Given the description of an element on the screen output the (x, y) to click on. 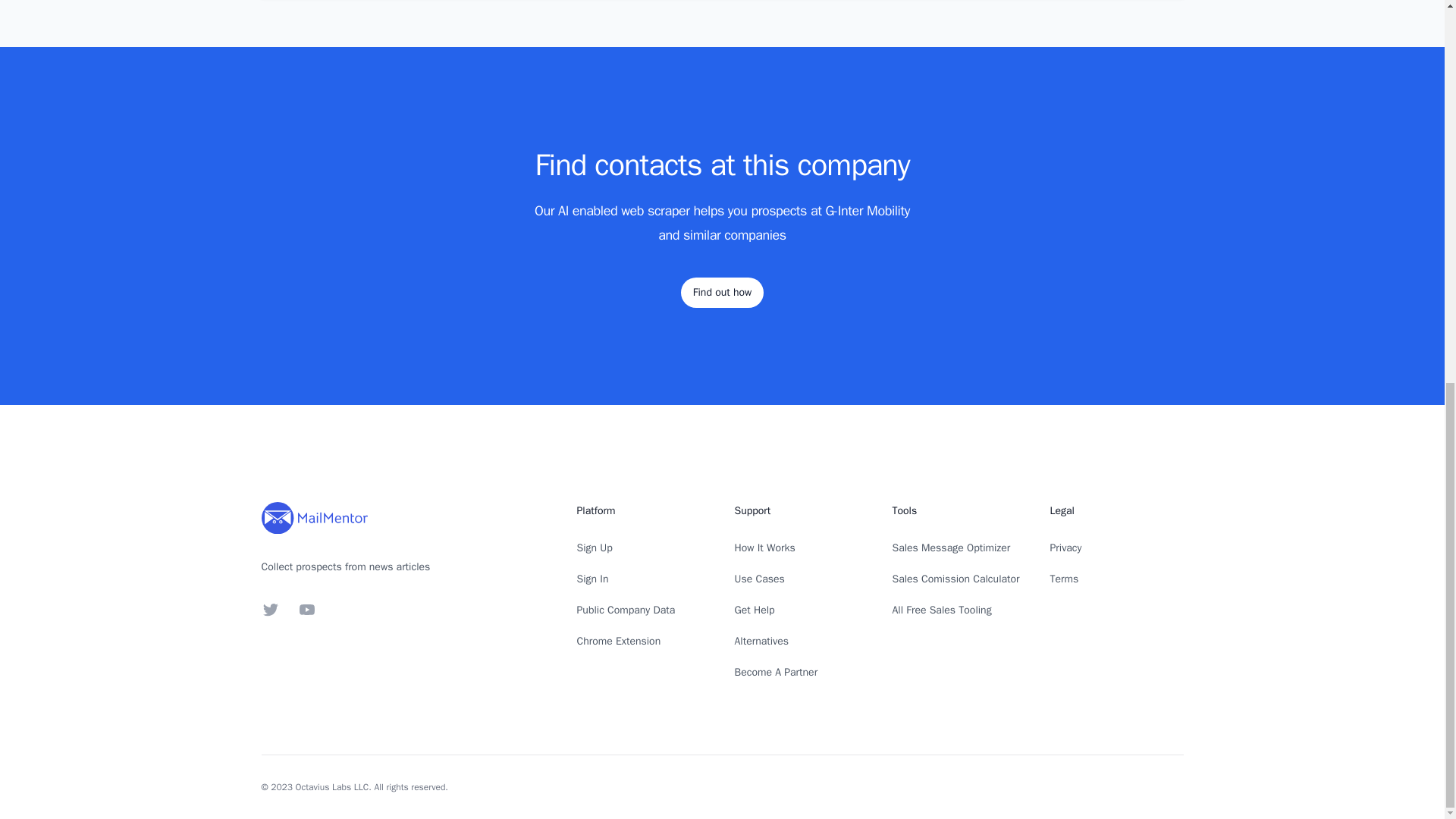
Privacy (1065, 547)
Alternatives (761, 640)
How It Works (763, 547)
Twitter (269, 609)
Chrome Extension (618, 640)
Octavius Labs LLC (332, 787)
Find out how (721, 292)
Get Help (753, 609)
Use Cases (758, 578)
All Free Sales Tooling (941, 609)
